Given the description of an element on the screen output the (x, y) to click on. 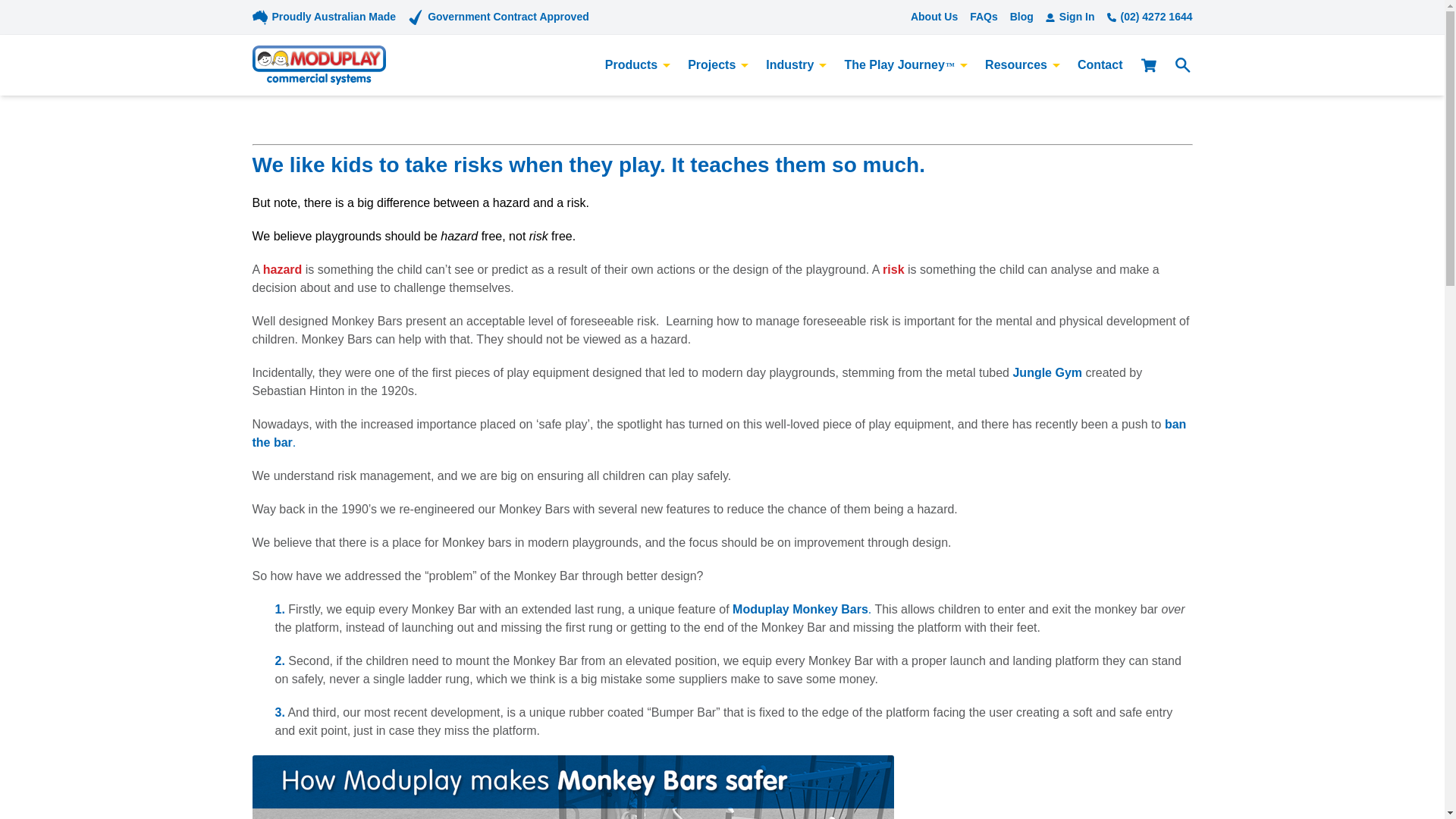
Government Contract Approved (508, 16)
FAQs (983, 17)
Blog (1021, 17)
About Us (934, 17)
Sign In (1069, 17)
Moduplay (318, 65)
Proudly Australian Made (333, 16)
